Given the description of an element on the screen output the (x, y) to click on. 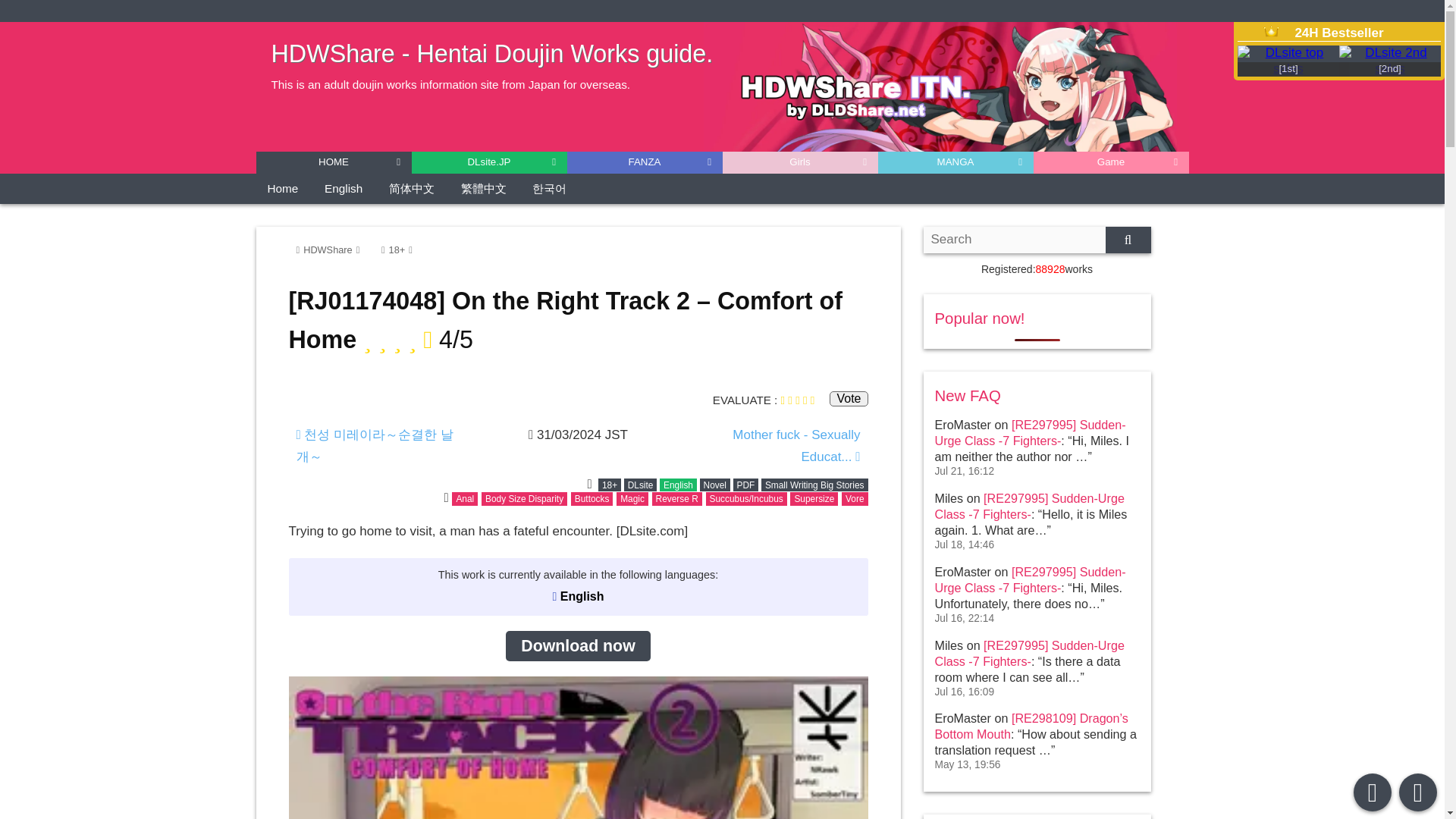
Vote (848, 398)
Vore (854, 499)
English (678, 485)
Reverse R (676, 499)
Mother fuck - Sexually Educat... (777, 446)
FANZA (644, 162)
HDWShare (328, 249)
Buttocks (591, 499)
Game (1110, 162)
Girls (799, 162)
Download now (577, 645)
DLsite.JP (488, 162)
MANGA (955, 162)
HOME (334, 162)
